Given the description of an element on the screen output the (x, y) to click on. 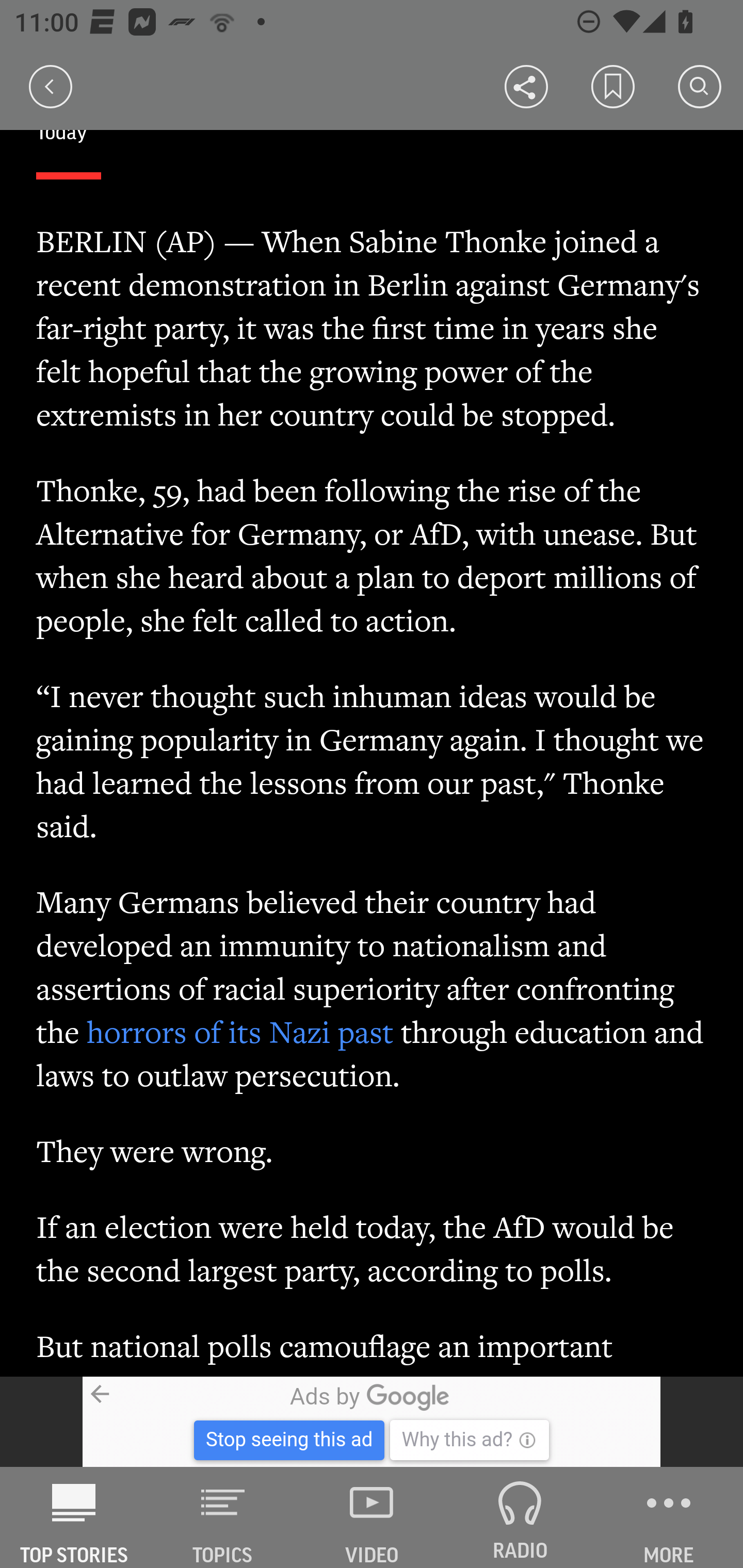
horrors of its Nazi past (240, 1031)
tbox%3FDCSext (371, 1421)
AP News TOP STORIES (74, 1517)
TOPICS (222, 1517)
VIDEO (371, 1517)
RADIO (519, 1517)
MORE (668, 1517)
